Given the description of an element on the screen output the (x, y) to click on. 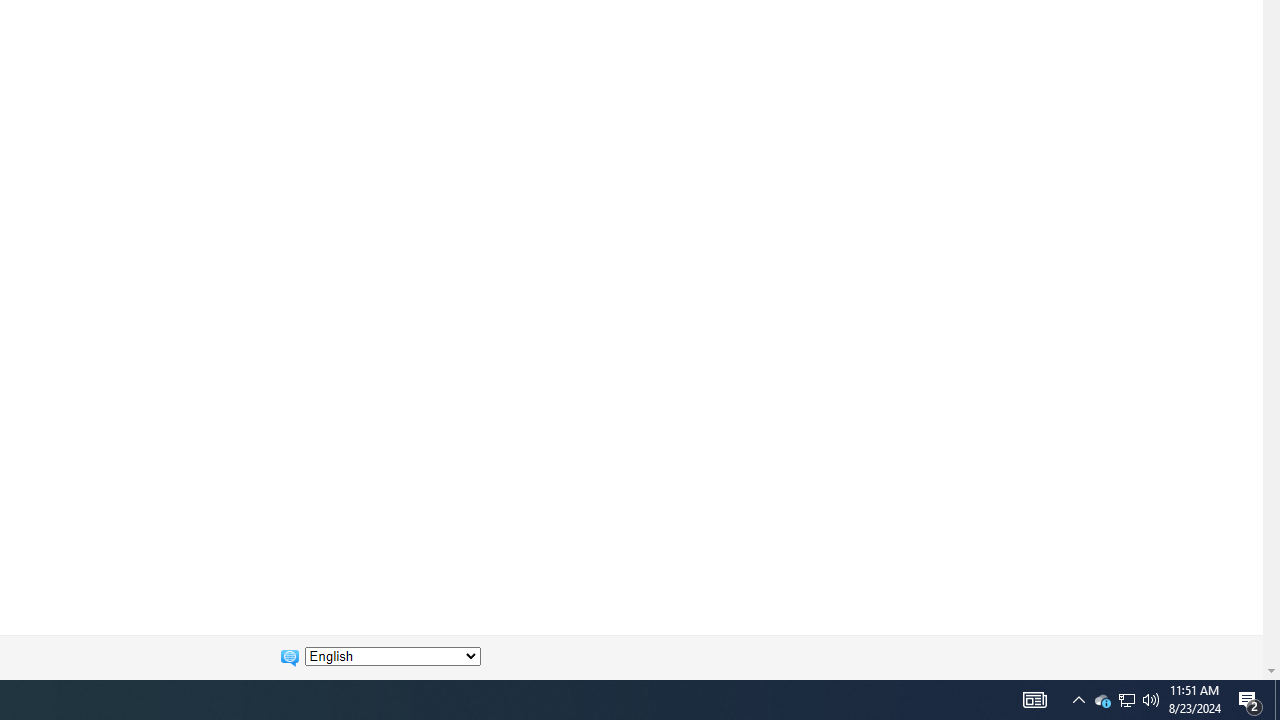
Change language: (392, 656)
